Given the description of an element on the screen output the (x, y) to click on. 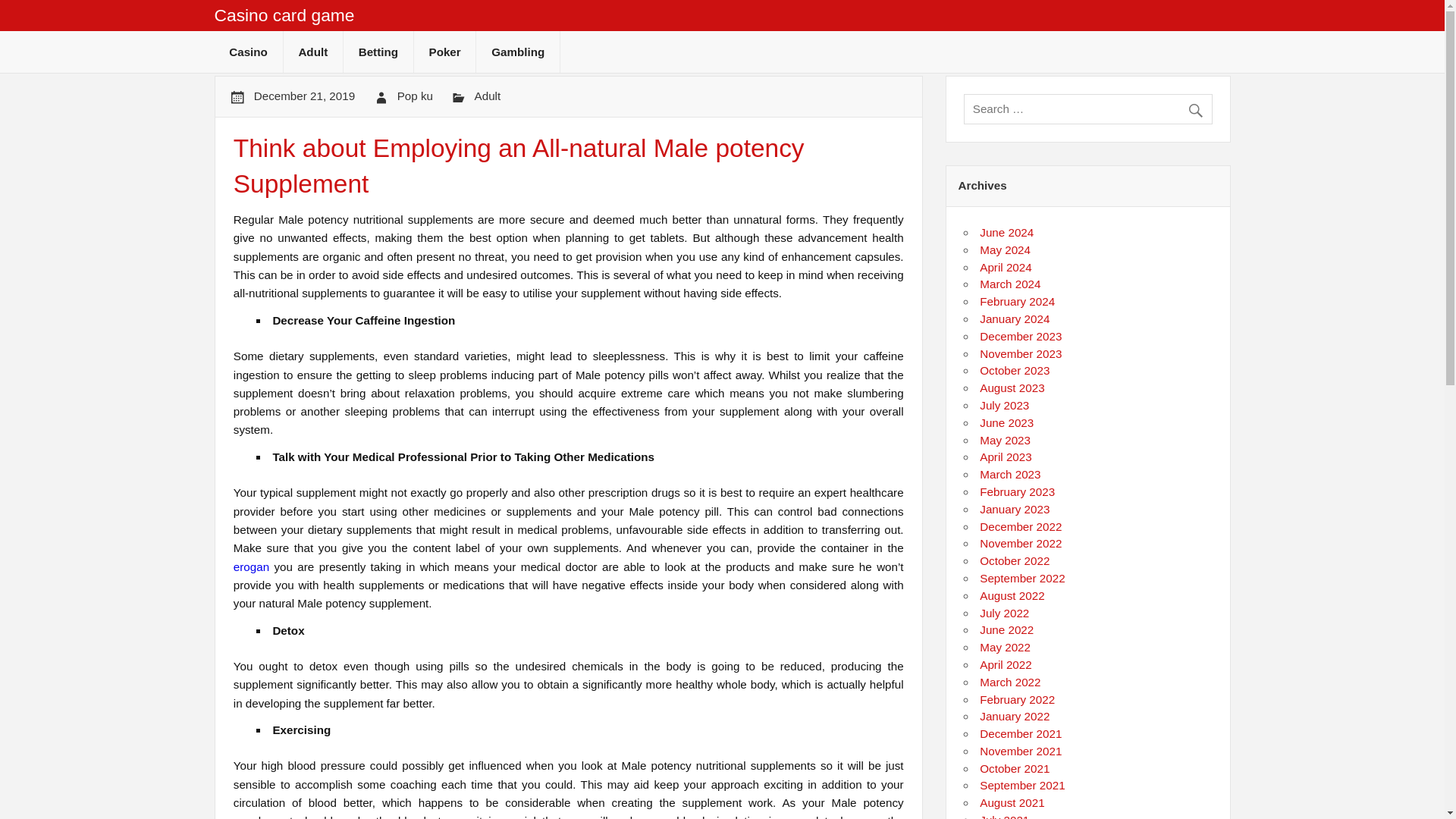
January 2023 (1014, 508)
Casino card game (283, 15)
Gambling (517, 51)
March 2023 (1010, 473)
Casino (248, 51)
April 2022 (1004, 664)
Adult (312, 51)
Adult (487, 95)
Poker (444, 51)
January 2024 (1014, 318)
